Given the description of an element on the screen output the (x, y) to click on. 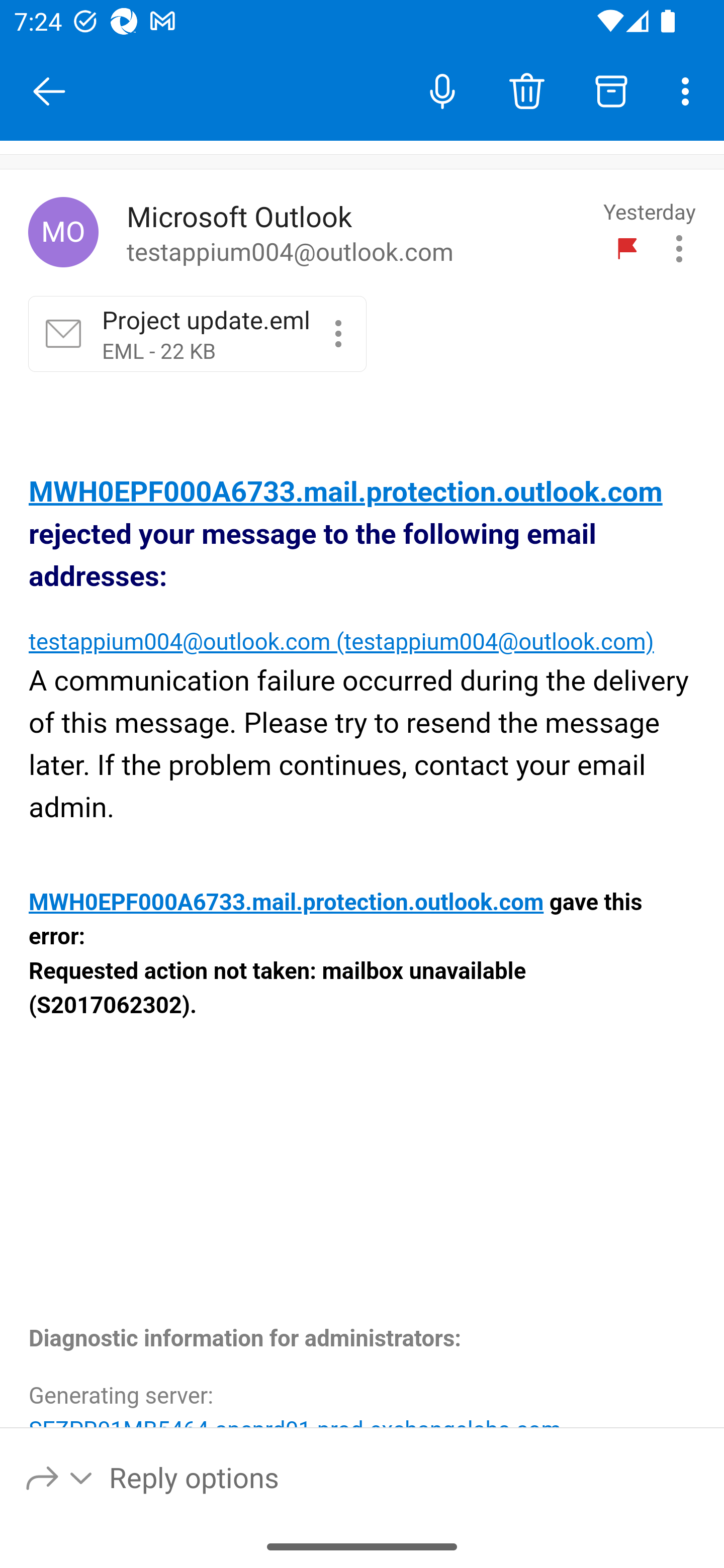
Close (49, 91)
Delete (526, 90)
Archive (611, 90)
More options (688, 90)
Microsoft Outlook
to testappium004@outlook.com (357, 232)
Message actions (679, 248)
Project update.eml (338, 333)
MWH0EPF000A6733.mail.protection.outlook.com (345, 492)
MWH0EPF000A6733.mail.protection.outlook.com (285, 903)
Reply options (59, 1476)
